Given the description of an element on the screen output the (x, y) to click on. 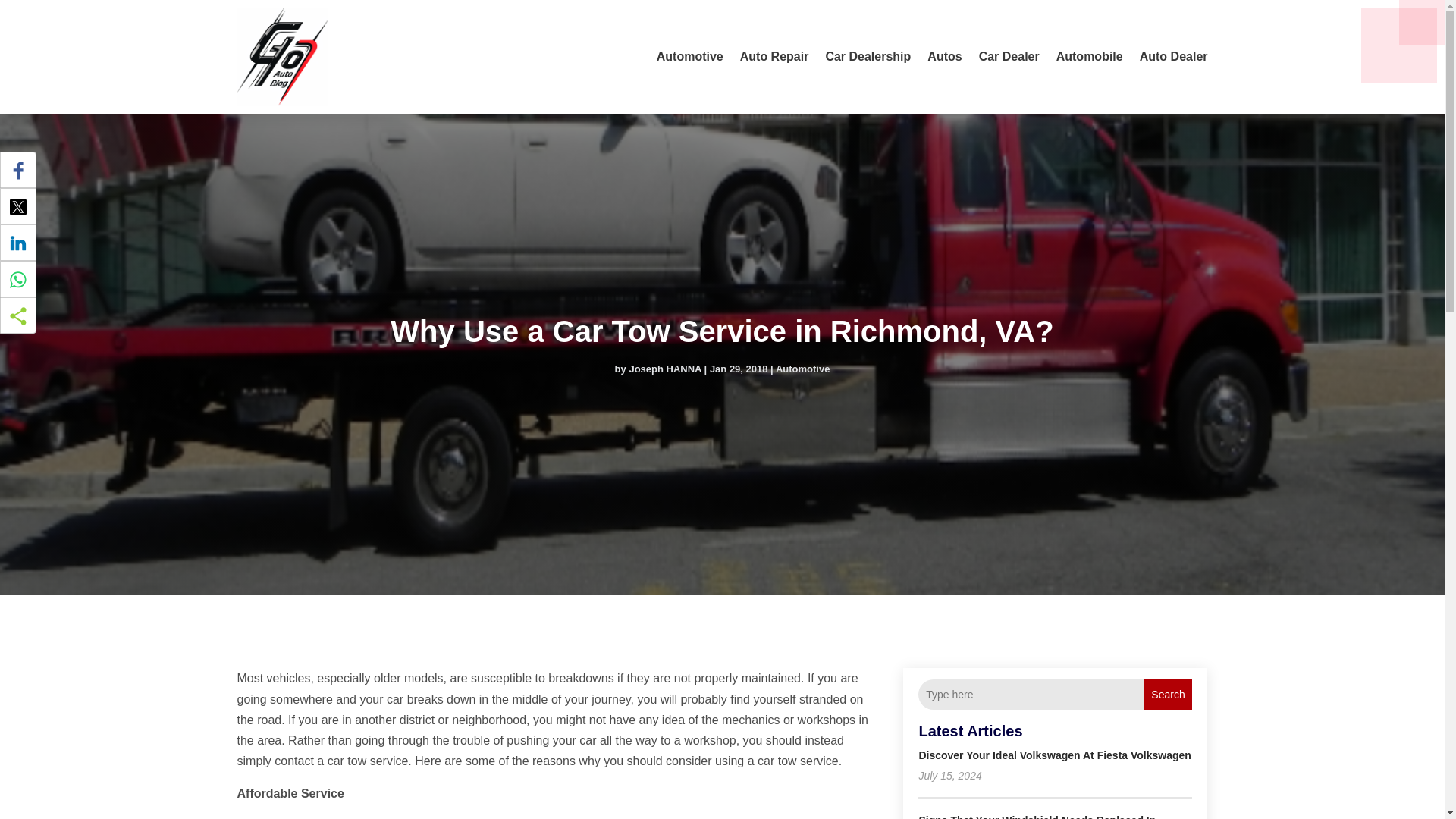
Search (1168, 694)
Signs That Your Windshield Needs Replaced In Beaverton, OR (1037, 816)
Automotive (802, 368)
Joseph HANNA (664, 368)
Discover Your Ideal Volkswagen At Fiesta Volkswagen (1054, 755)
Posts by Joseph HANNA (664, 368)
